Given the description of an element on the screen output the (x, y) to click on. 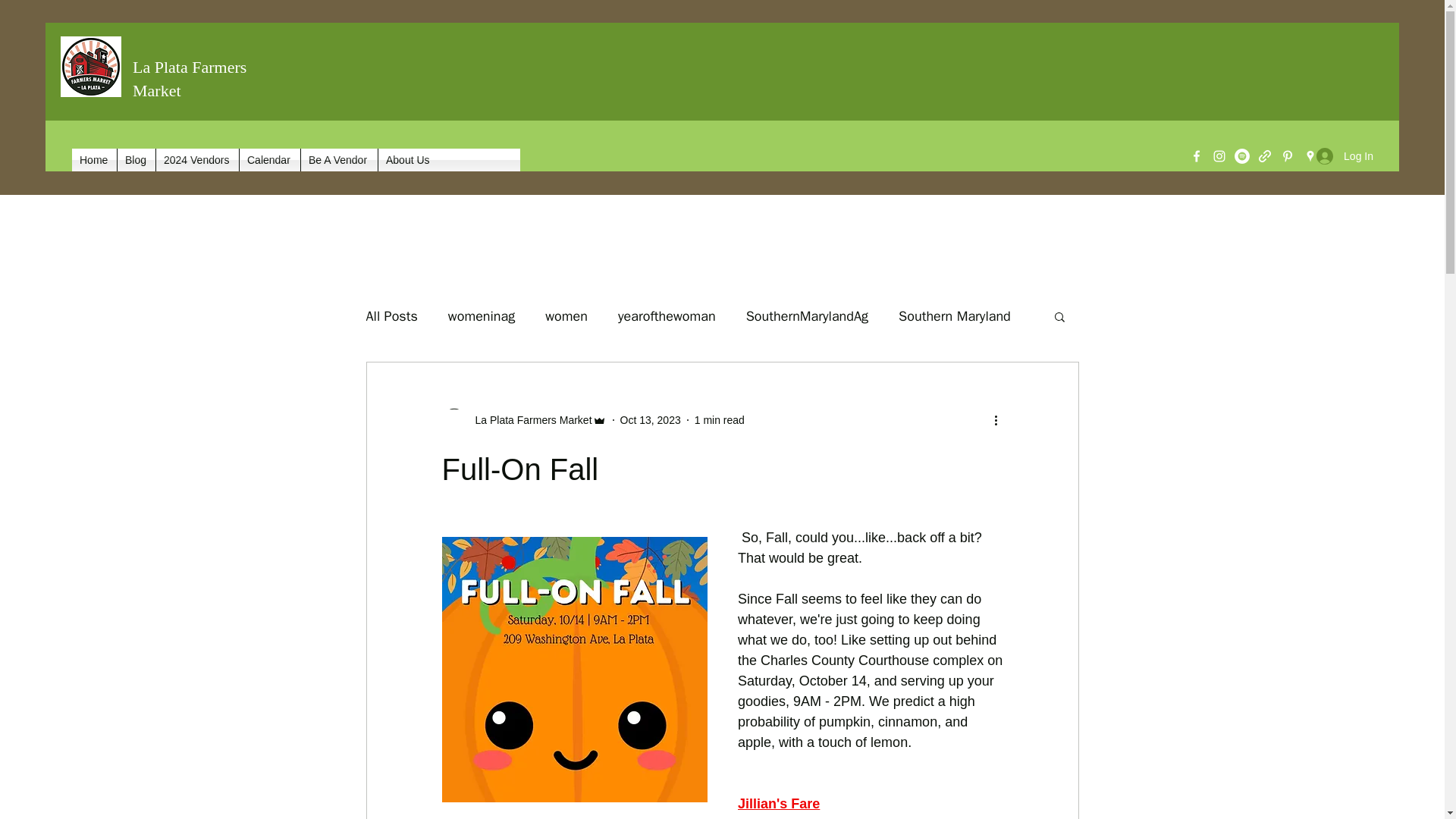
Be A Vendor (339, 159)
La Plata Farmers Market (528, 420)
Southern Maryland (954, 316)
Log In (1345, 156)
2024 Vendors (196, 159)
Mike's Chicken and Ribs (520, 817)
Calendar (269, 159)
yearofthewoman (666, 316)
SouthernMarylandAg (806, 316)
All Posts (390, 316)
womeninag (481, 316)
About Us (408, 159)
1 min read (719, 419)
women (566, 316)
La Plata Farmers Market (523, 419)
